Given the description of an element on the screen output the (x, y) to click on. 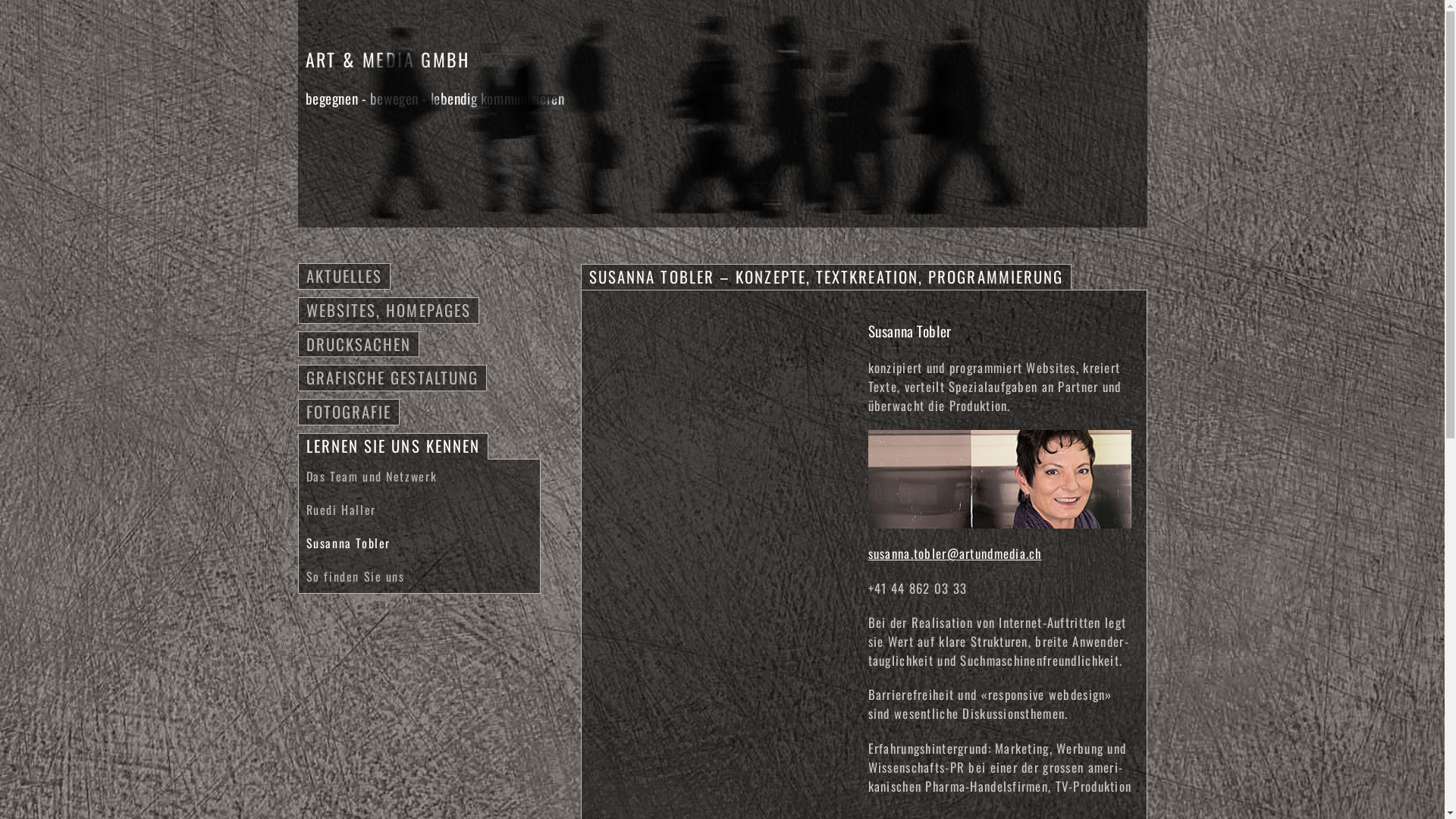
Das Team und Netzwerk Element type: text (371, 476)
DRUCKSACHEN Element type: text (358, 343)
susanna.tobler@artundmedia.ch Element type: text (954, 552)
So finden Sie uns Element type: text (355, 576)
Ruedi Haller Element type: text (341, 509)
LERNEN SIE UNS KENNEN Element type: text (393, 445)
AKTUELLES Element type: text (344, 275)
Susanna Tobler Element type: text (348, 542)
FOTOGRAFIE Element type: text (349, 411)
WEBSITES, HOMEPAGES Element type: text (388, 309)
GRAFISCHE GESTALTUNG Element type: text (392, 377)
